Given the description of an element on the screen output the (x, y) to click on. 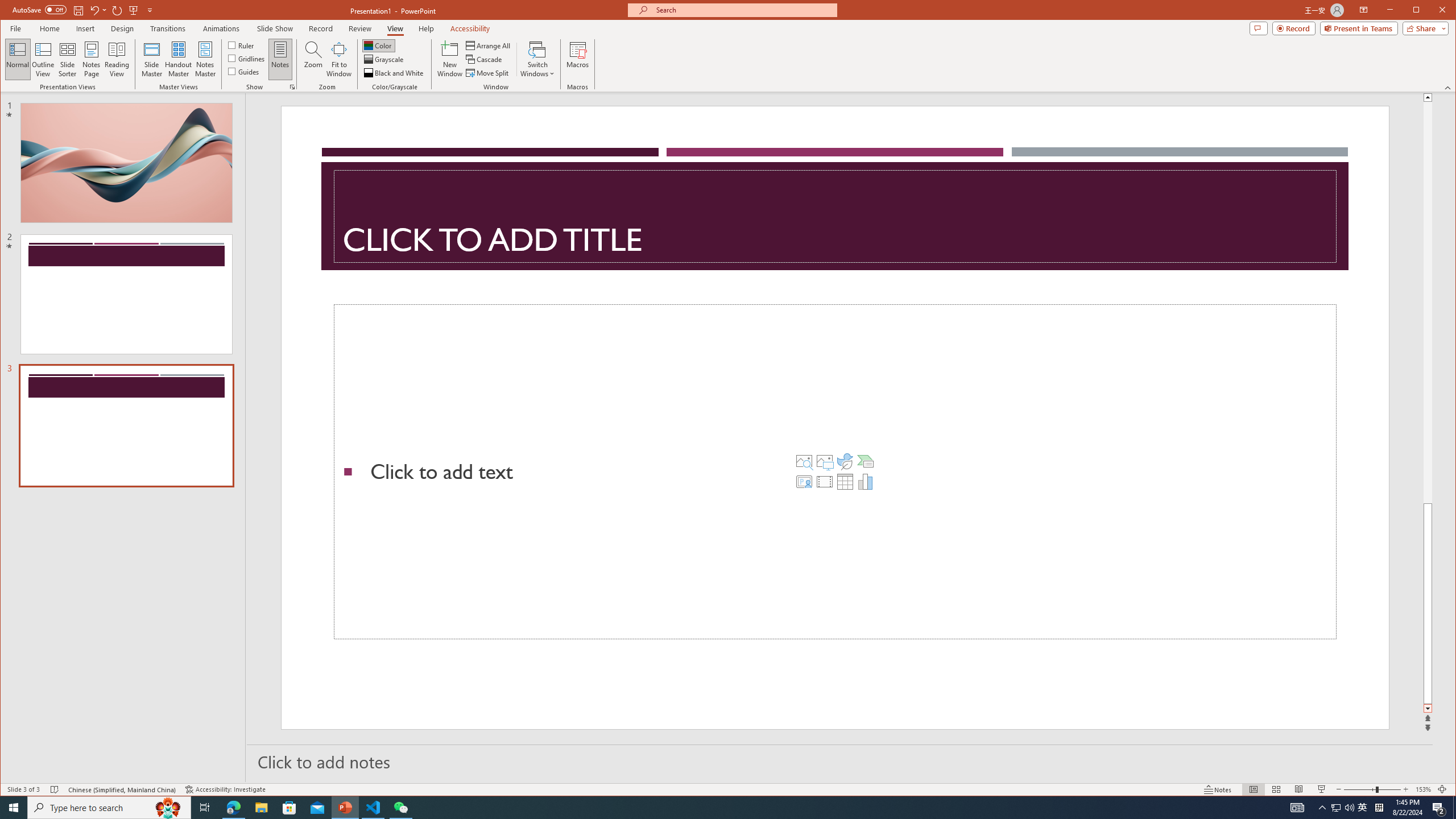
Cascade (484, 59)
Notes Page (91, 59)
Stock Images (803, 461)
Color (378, 45)
Grid Settings... (292, 86)
Move Split (488, 72)
